Given the description of an element on the screen output the (x, y) to click on. 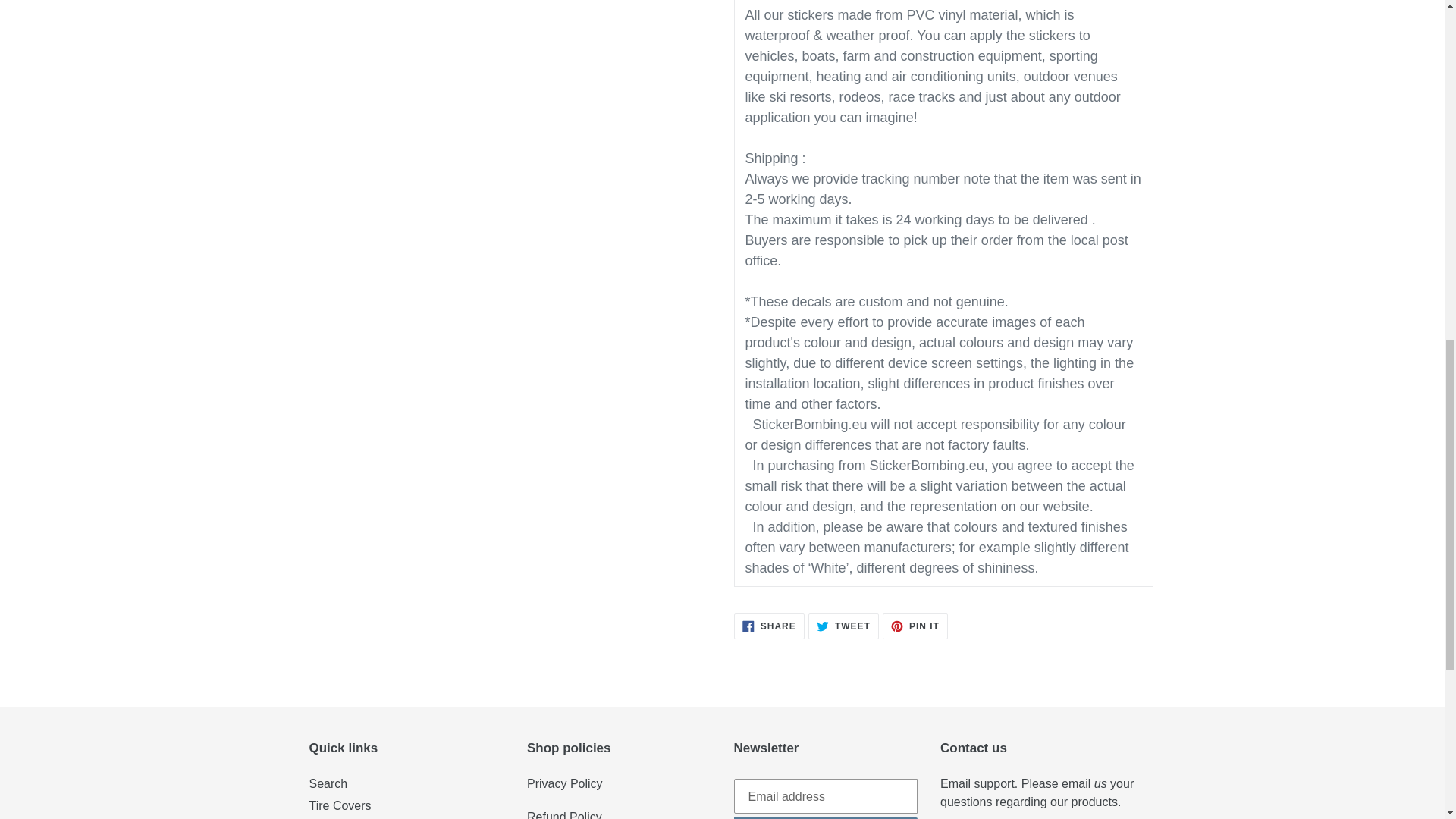
Terms of Service (564, 783)
Refund Policy (564, 814)
